Given the description of an element on the screen output the (x, y) to click on. 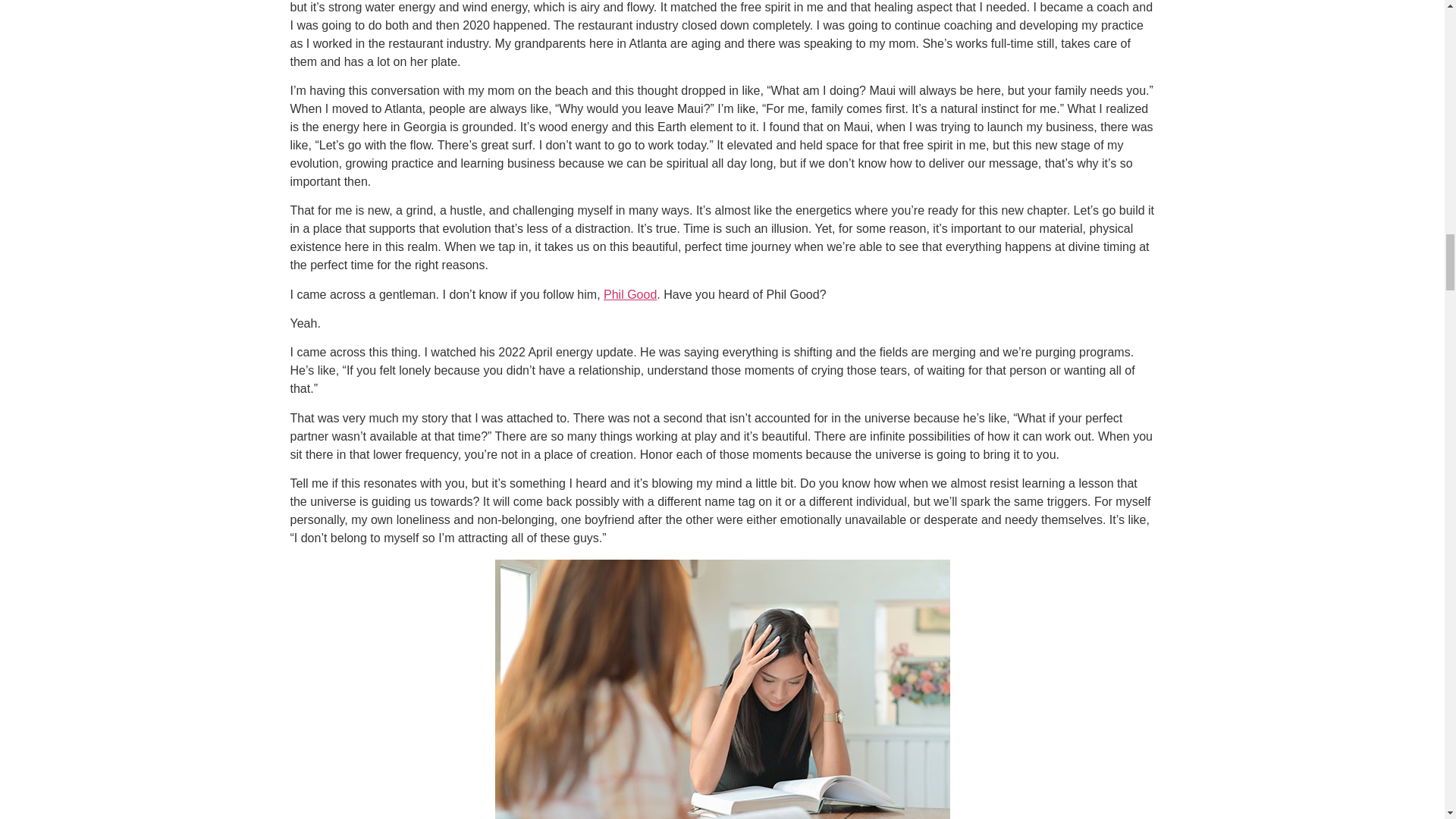
Phil Good (630, 294)
